Given the description of an element on the screen output the (x, y) to click on. 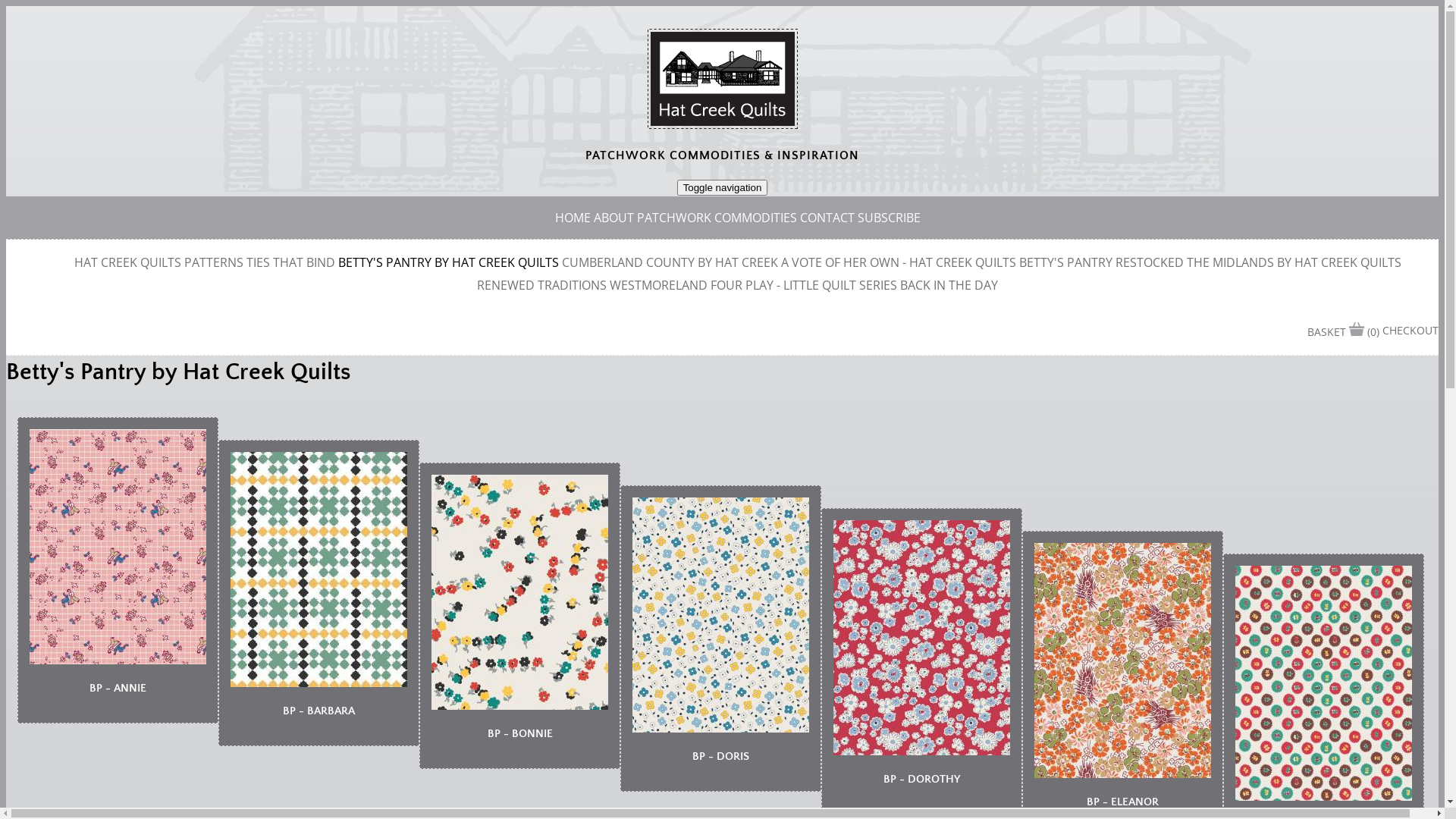
Click here to read more on "BP - Barbara" Element type: hover (318, 682)
BP - DOROTHY Element type: text (921, 778)
ABOUT Element type: text (613, 217)
WESTMORELAND Element type: text (658, 285)
BASKET (0) Element type: text (1343, 331)
HOME Element type: text (572, 217)
Click here to read more on "BP - Eleanor" Element type: hover (1122, 773)
CUMBERLAND COUNTY BY HAT CREEK Element type: text (669, 262)
CHECKOUT Element type: text (1410, 330)
BP - BONNIE Element type: text (519, 733)
Click here to read more on "BP - Bonnie" Element type: hover (519, 704)
RENEWED TRADITIONS Element type: text (541, 285)
BACK IN THE DAY Element type: text (948, 285)
Click here to read more on "BP - Dorothy" Element type: hover (921, 750)
A VOTE OF HER OWN - HAT CREEK QUILTS Element type: text (898, 262)
BP - DORIS Element type: text (720, 755)
BP - ELEANOR Element type: text (1122, 801)
BETTY'S PANTRY RESTOCKED Element type: text (1101, 262)
HAT CREEK QUILTS PATTERNS Element type: text (158, 262)
FOUR PLAY - LITTLE QUILT SERIES Element type: text (803, 285)
BETTY'S PANTRY BY HAT CREEK QUILTS Element type: text (448, 262)
Click here to read more on "BP - Ester" Element type: hover (1323, 795)
THE MIDLANDS BY HAT CREEK QUILTS Element type: text (1293, 262)
BP - BARBARA Element type: text (318, 710)
Click here to read more on "BP - Annie" Element type: hover (117, 659)
Toggle navigation Element type: text (722, 187)
SUBSCRIBE Element type: text (887, 217)
TIES THAT BIND Element type: text (289, 262)
PATCHWORK COMMODITIES Element type: text (717, 217)
BP - ANNIE Element type: text (117, 687)
CONTACT Element type: text (826, 217)
Click here to read more on "BP - Doris" Element type: hover (720, 727)
